Given the description of an element on the screen output the (x, y) to click on. 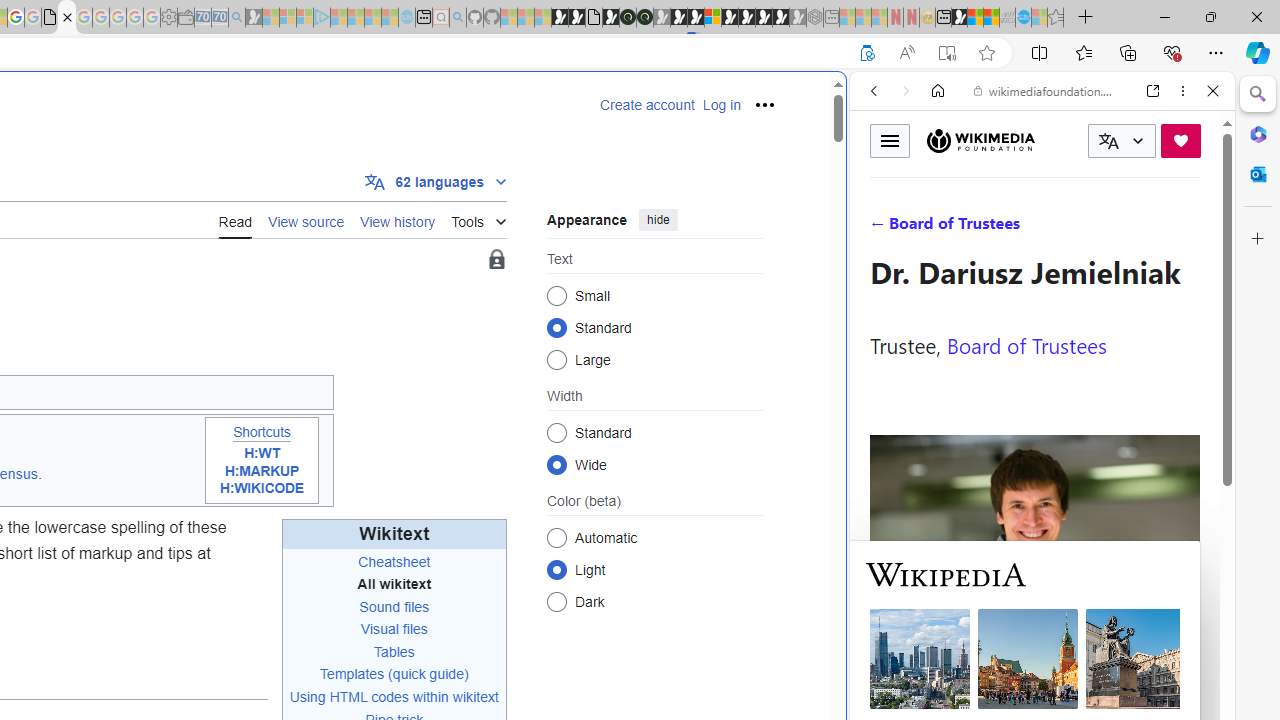
View history (397, 219)
Wikimedia Foundation (980, 141)
All wikitext (394, 584)
Wikitext (393, 533)
Class: i icon icon-translate language-switcher__icon (1108, 141)
Donate now (1180, 140)
Wide (556, 464)
